Given the description of an element on the screen output the (x, y) to click on. 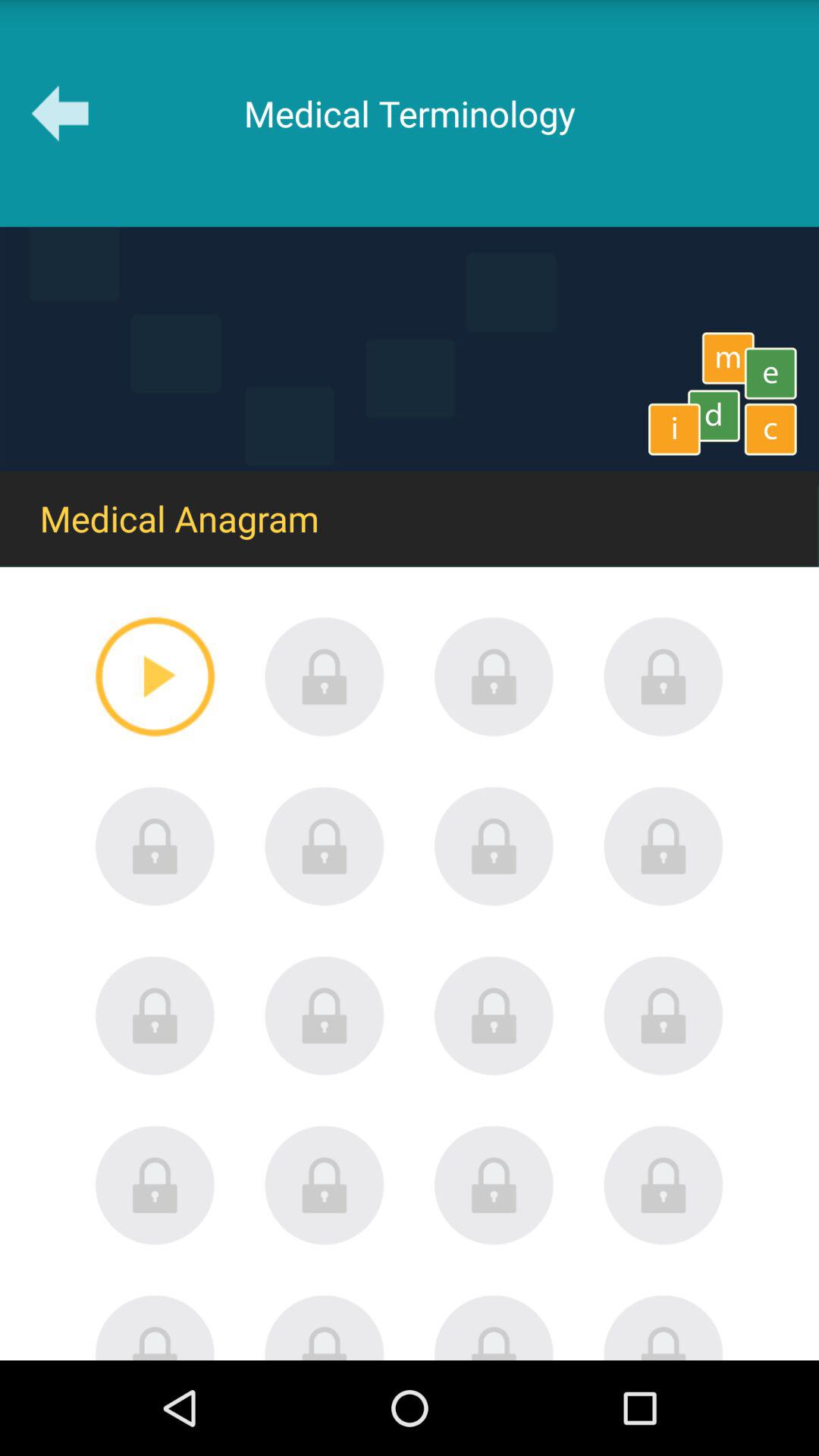
unlock item (493, 676)
